Given the description of an element on the screen output the (x, y) to click on. 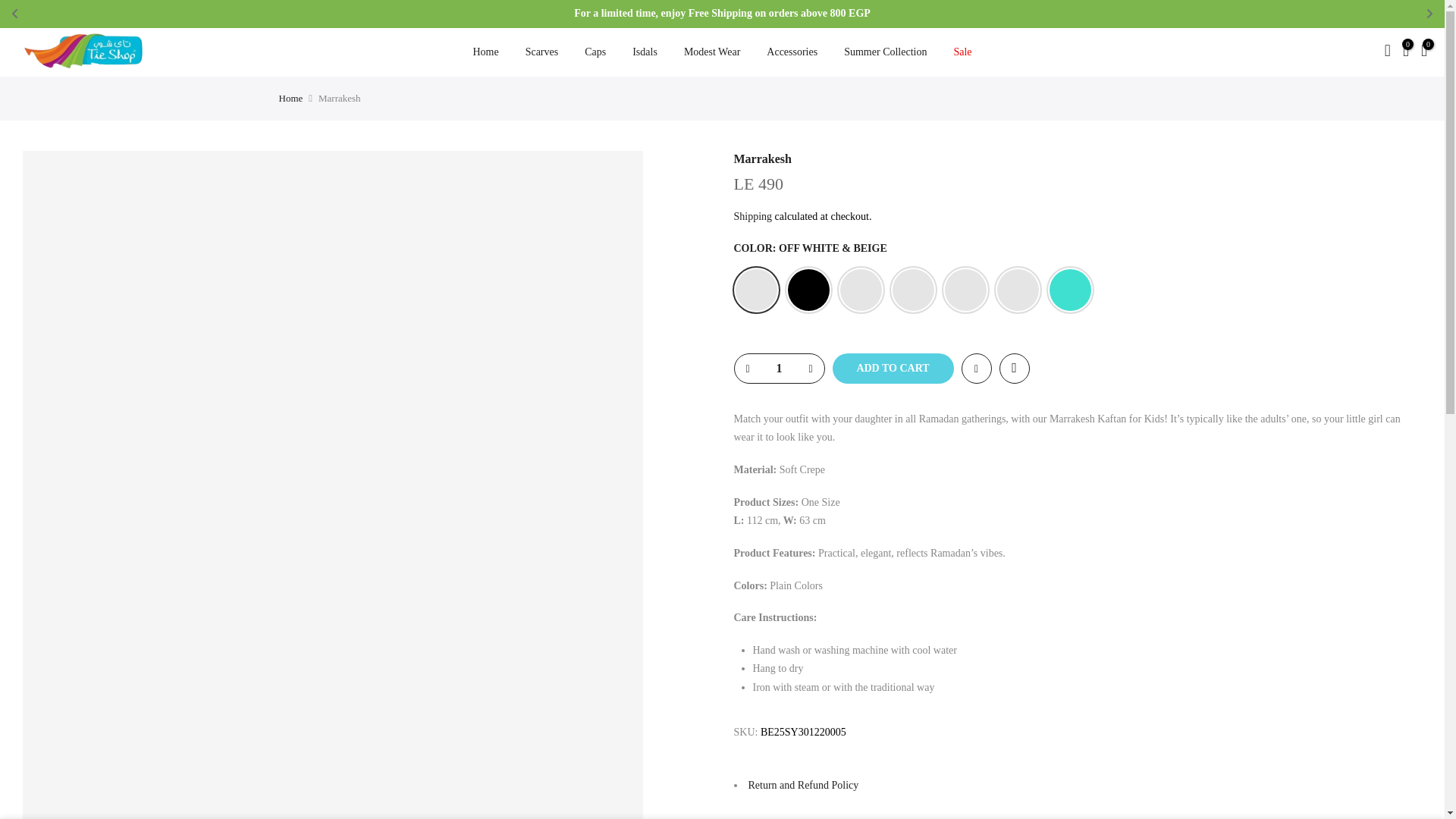
Caps (596, 51)
Home (486, 51)
Scarves (542, 51)
1 (778, 368)
